Given the description of an element on the screen output the (x, y) to click on. 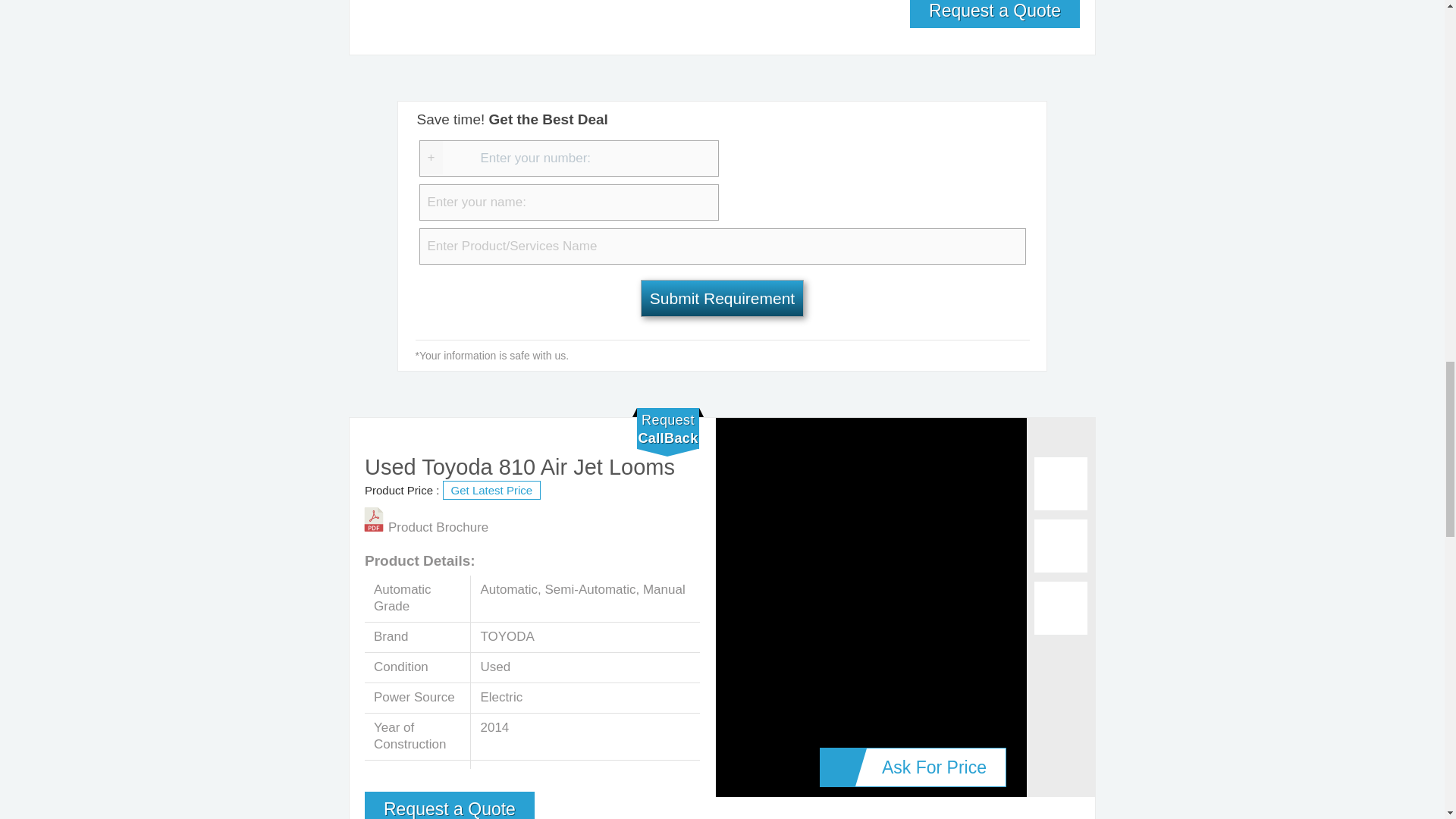
Submit Requirement (721, 298)
Submit Requirement (721, 298)
Enter your number: (568, 158)
Enter your name: (568, 202)
